Given the description of an element on the screen output the (x, y) to click on. 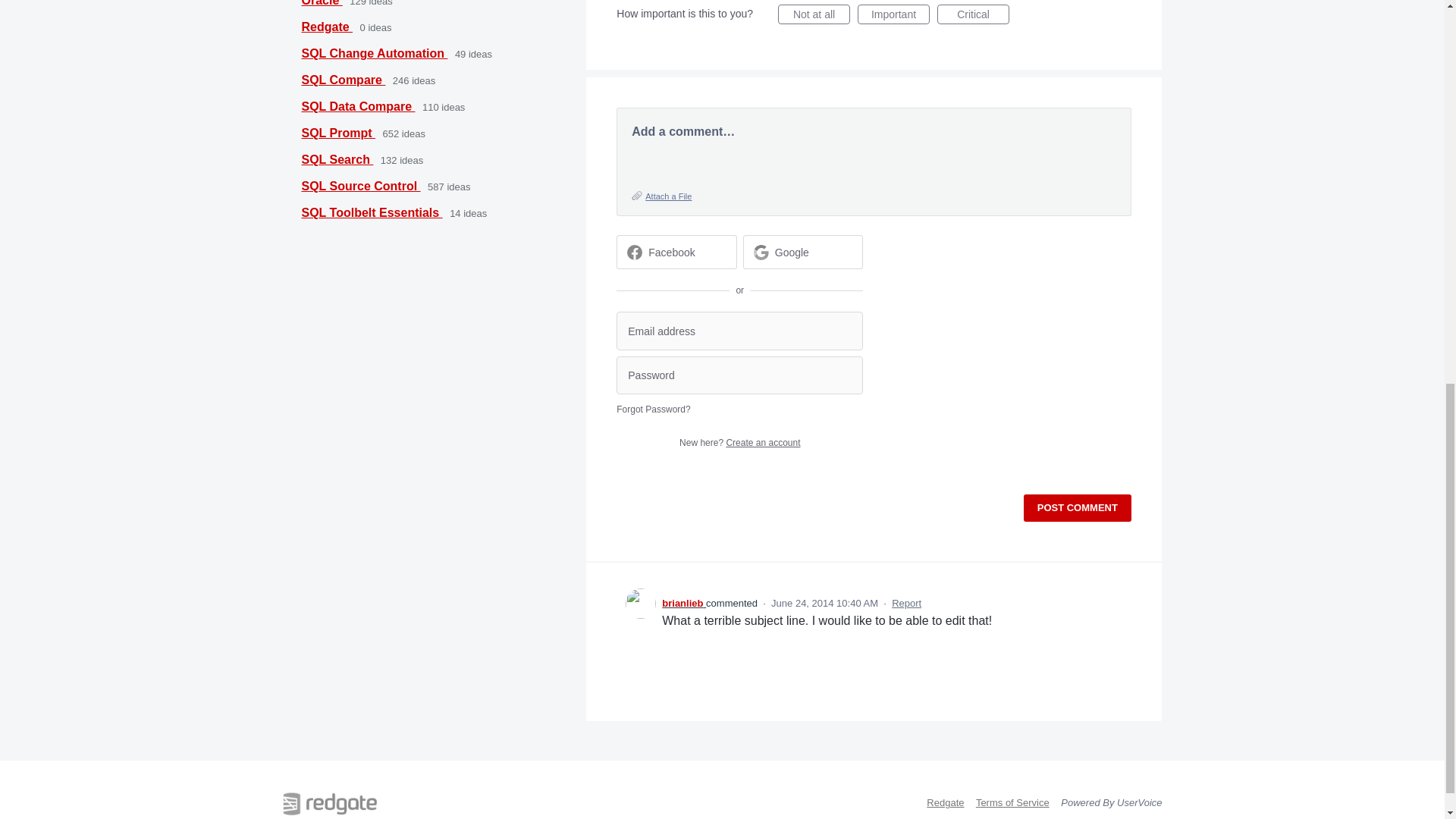
SQL Source Control (360, 185)
SQL Search (337, 159)
SQL Prompt (338, 132)
View all ideas in SQL Prompt (338, 132)
Oracle (321, 3)
View all ideas in Oracle (321, 3)
SQL Data Compare (357, 106)
SQL Toolbelt Essentials (371, 212)
Redgate (327, 26)
View all ideas in SQL Search (337, 159)
SQL Compare (343, 79)
SQL Change Automation (374, 52)
View all ideas in SQL Data Compare (357, 106)
View all ideas in Redgate (327, 26)
View all ideas in SQL Change Automation (374, 52)
